Given the description of an element on the screen output the (x, y) to click on. 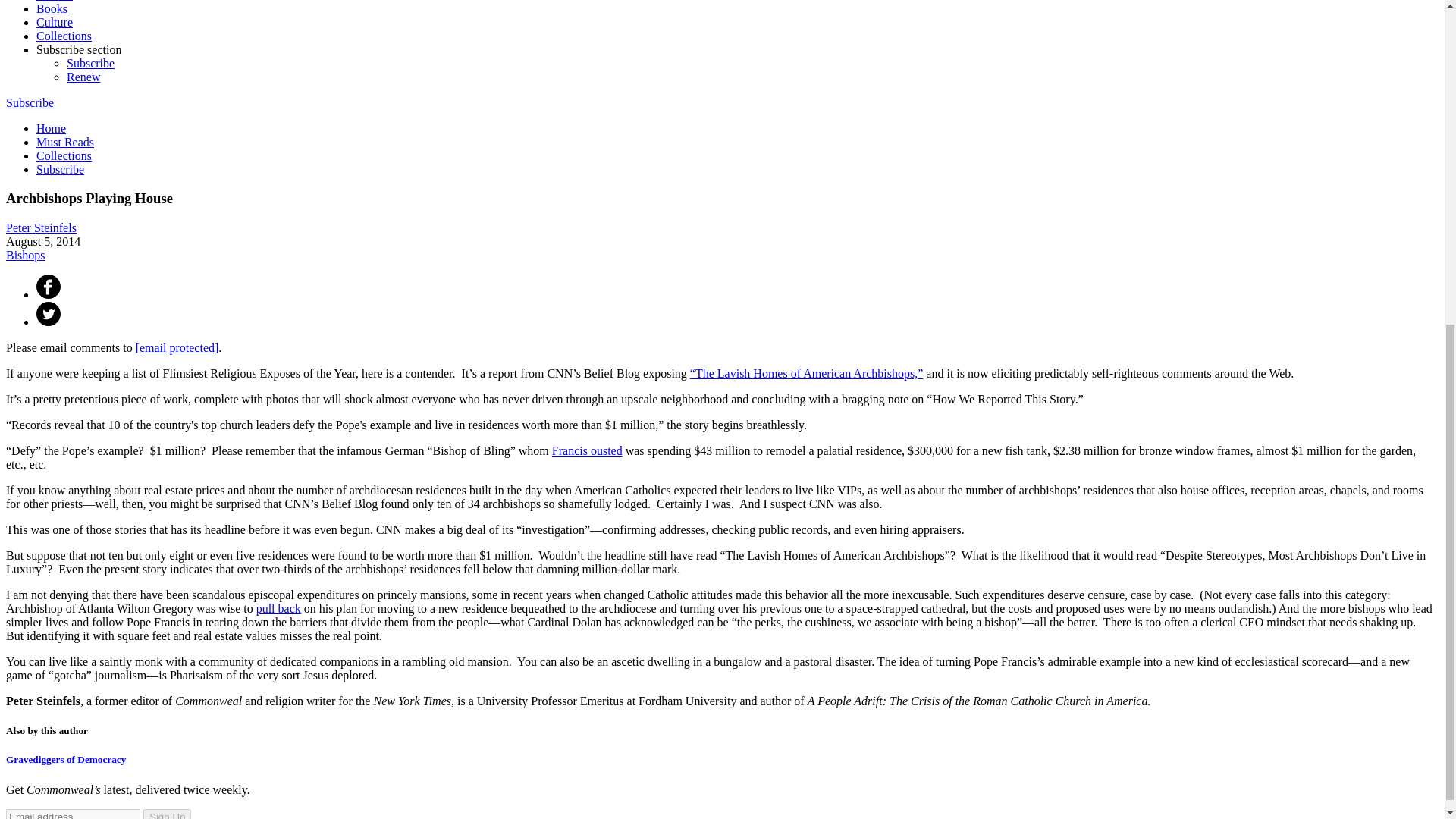
Subscribe (29, 102)
Gravediggers of Democracy (65, 758)
Culture (54, 21)
pull back (278, 608)
Must Reads (65, 141)
Subscribe (60, 169)
Renew (83, 76)
Home (50, 128)
Collections (63, 155)
Francis ousted (587, 450)
